Given the description of an element on the screen output the (x, y) to click on. 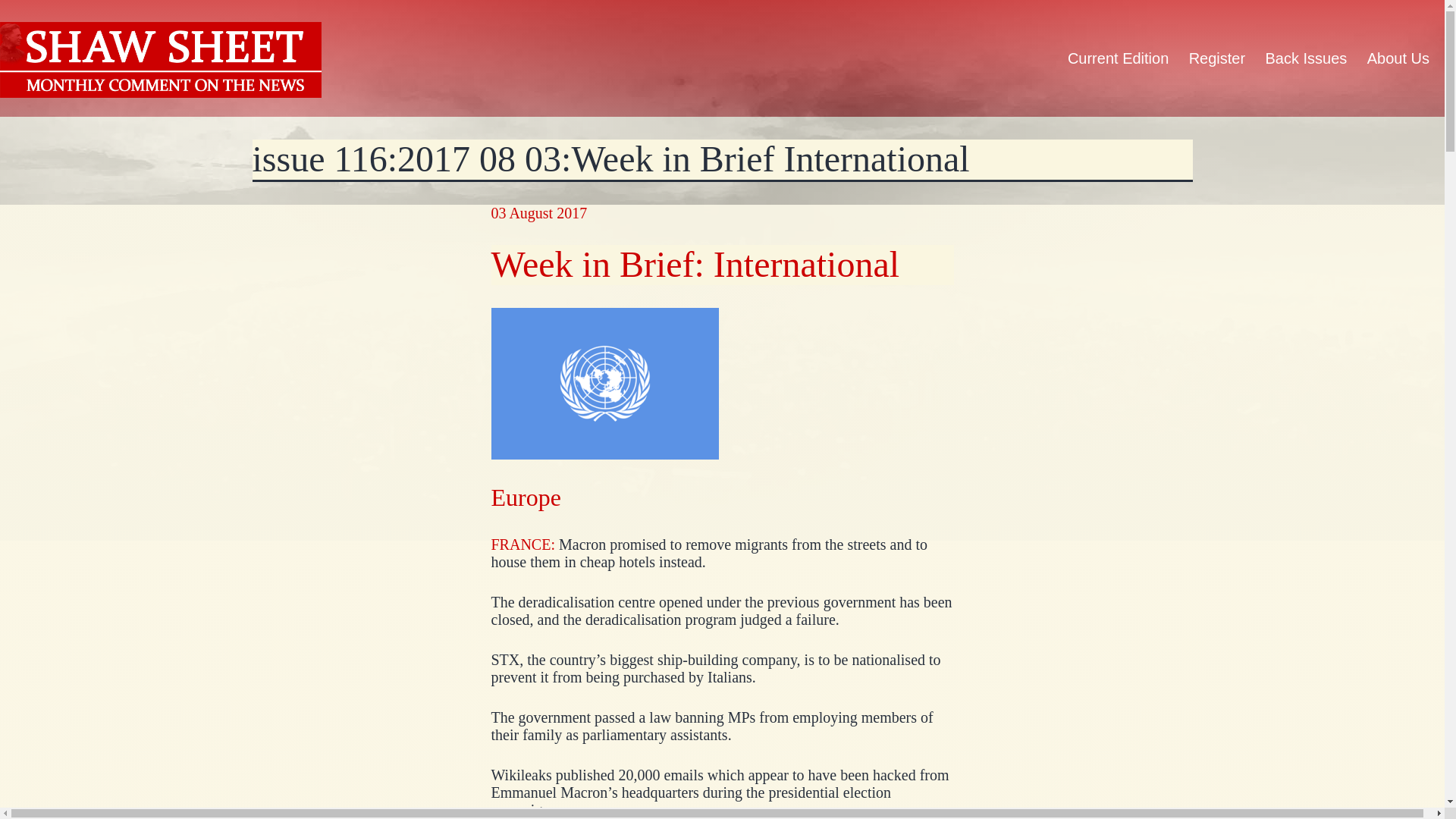
Back Issues (1305, 57)
Current Edition (1118, 57)
Register (1216, 57)
About Us (1397, 57)
